Given the description of an element on the screen output the (x, y) to click on. 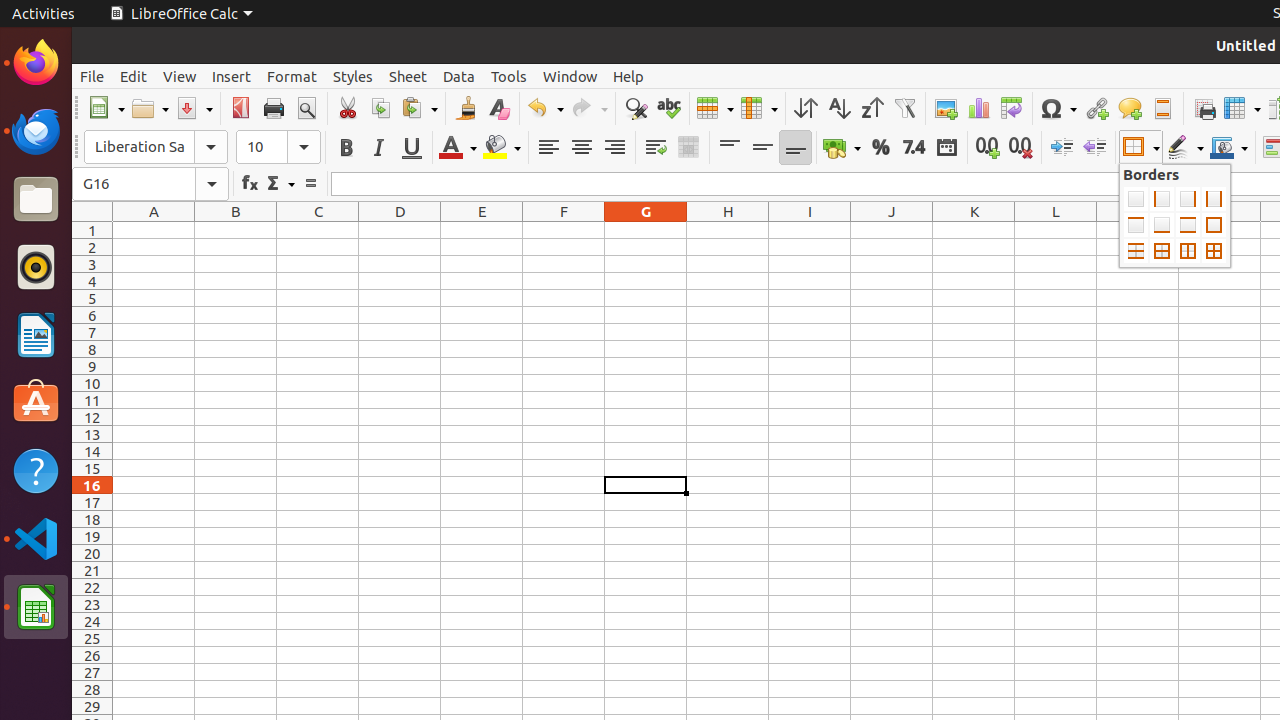
Thunderbird Mail Element type: push-button (36, 131)
Merge and Center Cells Element type: push-button (688, 147)
Name Box Element type: combo-box (150, 184)
Edit Element type: menu (133, 76)
File Element type: menu (92, 76)
